Given the description of an element on the screen output the (x, y) to click on. 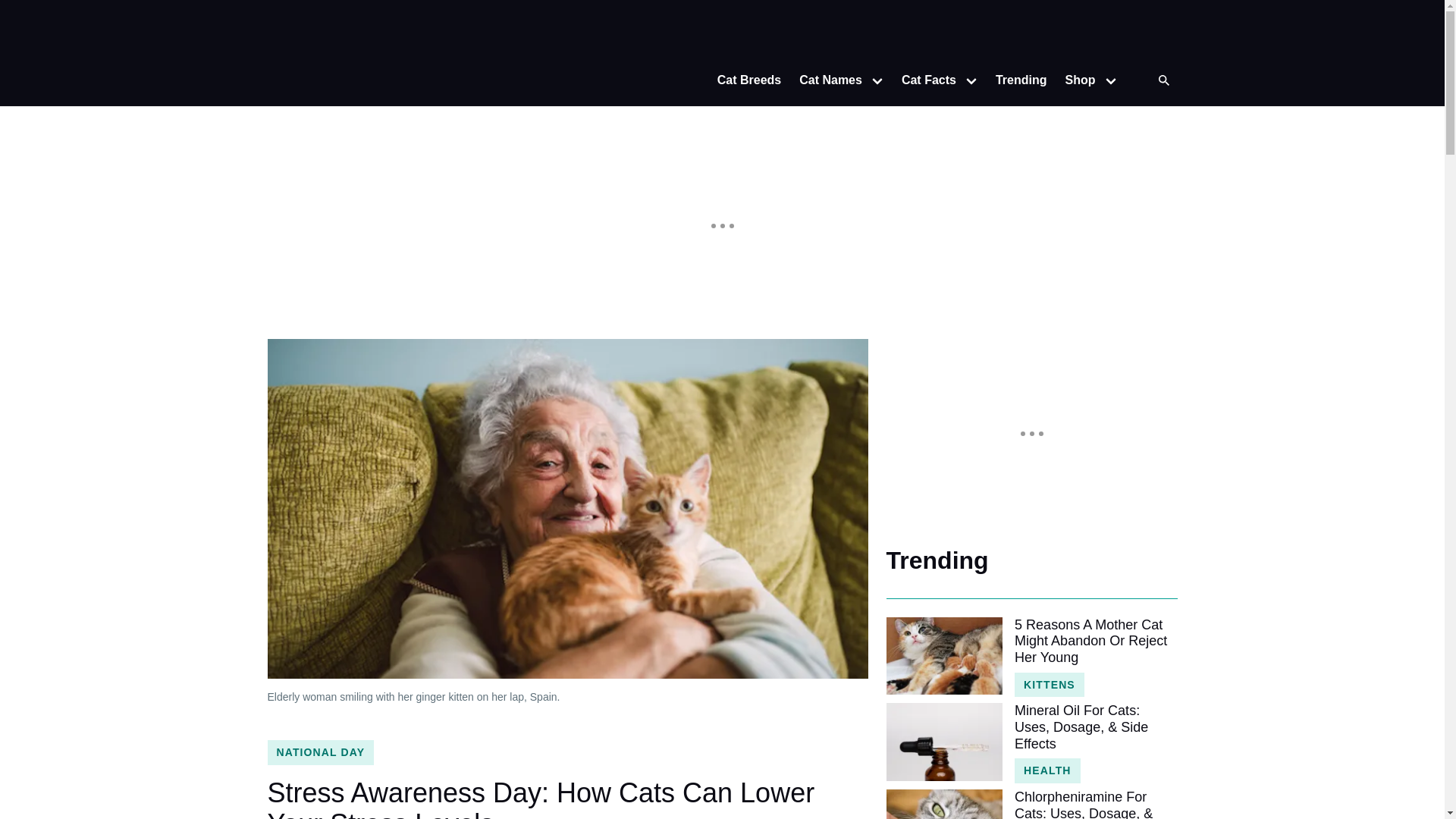
Facebook (1130, 33)
5 Reasons A Mother Cat Might Abandon Or Reject Her Young (944, 655)
NATIONAL DAY (320, 752)
Open menu (971, 80)
Cat Names (825, 80)
Cat Facts (924, 80)
Trending (1022, 80)
Pinterest (1161, 33)
Cat Breeds (748, 80)
Open menu (876, 80)
Open menu (1109, 80)
Shop (1074, 80)
5 Reasons A Mother Cat Might Abandon Or Reject Her Young (1095, 641)
